Given the description of an element on the screen output the (x, y) to click on. 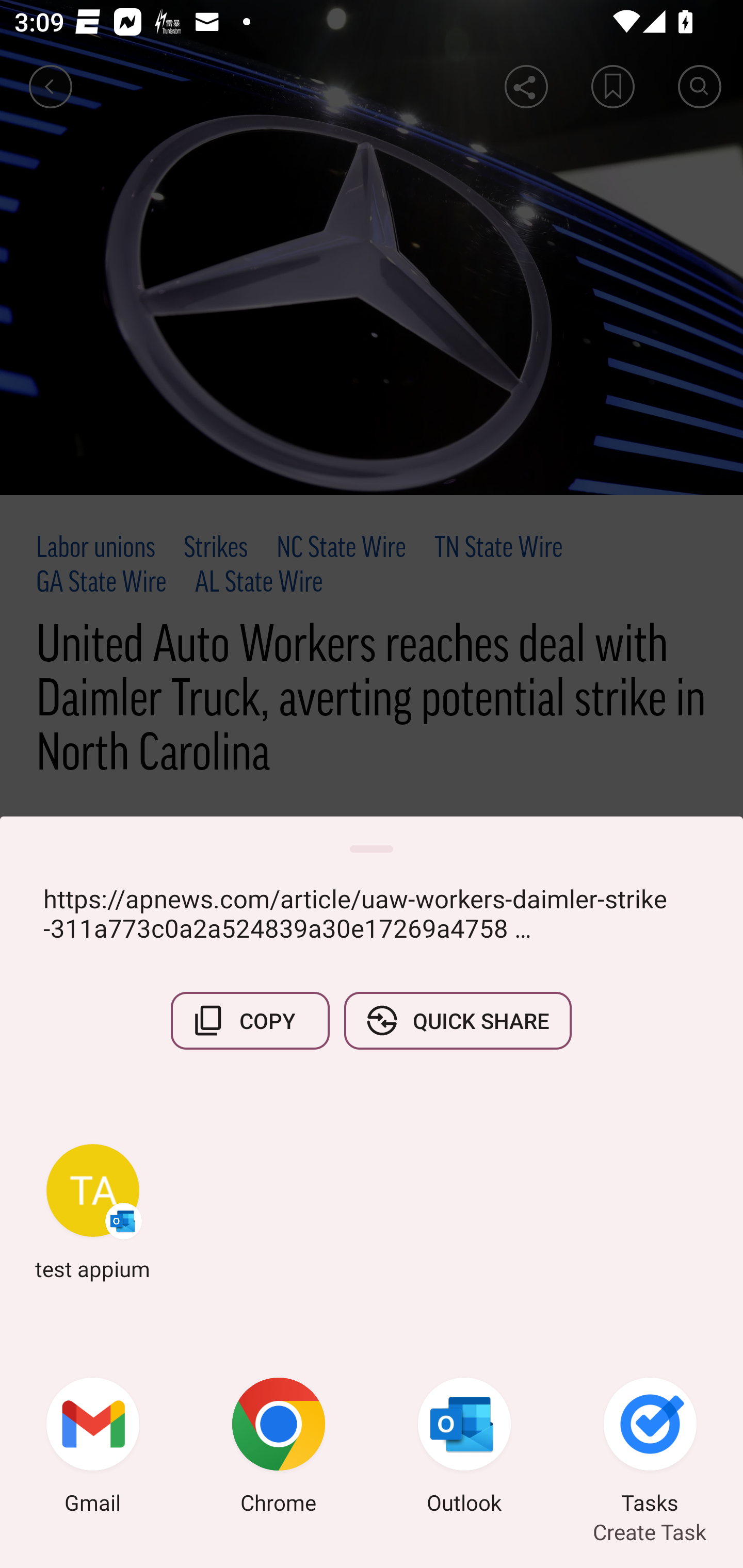
COPY (249, 1020)
QUICK SHARE (457, 1020)
test appium  Outlook test appium (92, 1212)
Gmail (92, 1448)
Chrome (278, 1448)
Outlook (464, 1448)
Tasks Create Task (650, 1448)
